Given the description of an element on the screen output the (x, y) to click on. 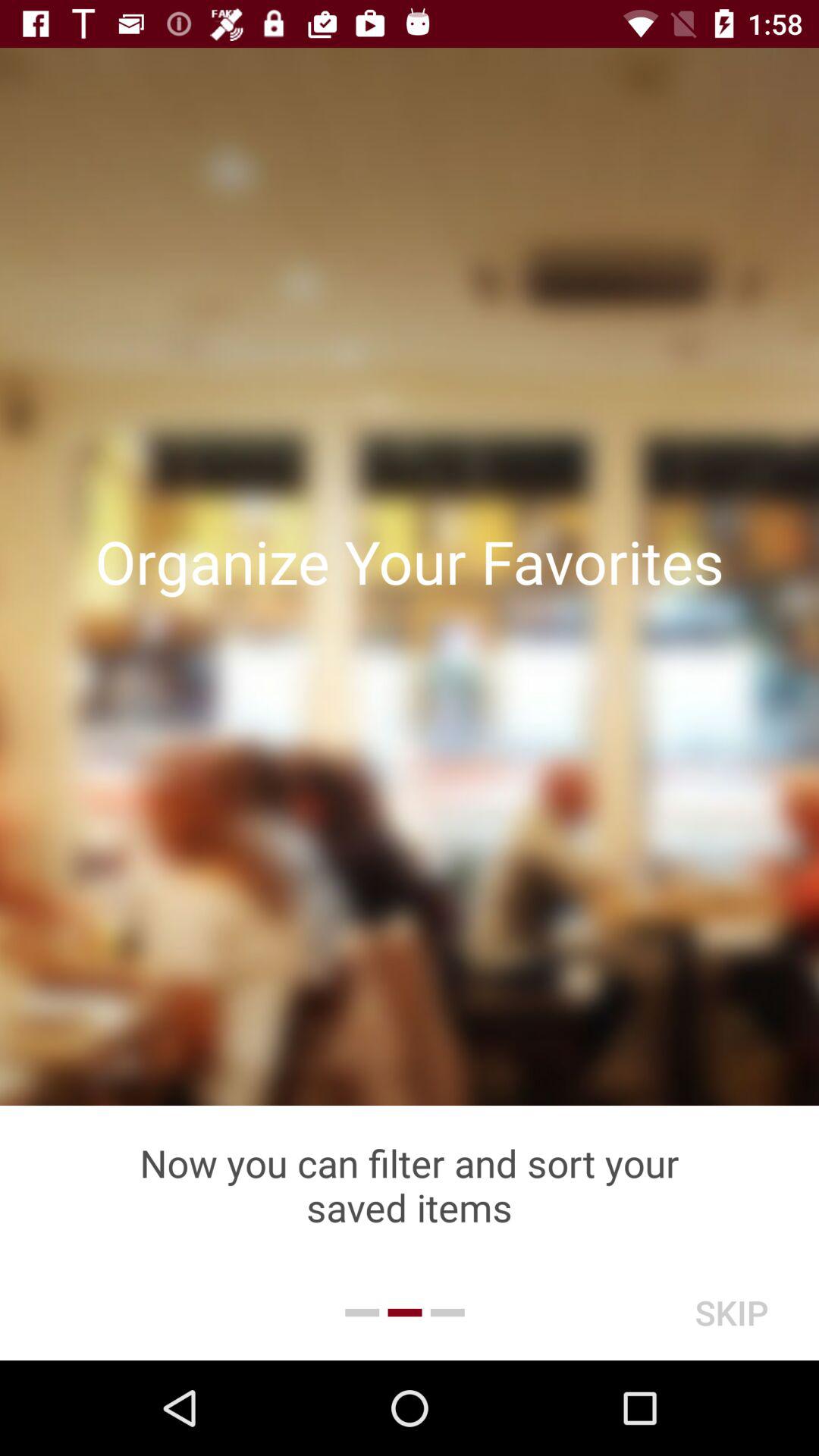
jump to the now you can icon (409, 1184)
